Given the description of an element on the screen output the (x, y) to click on. 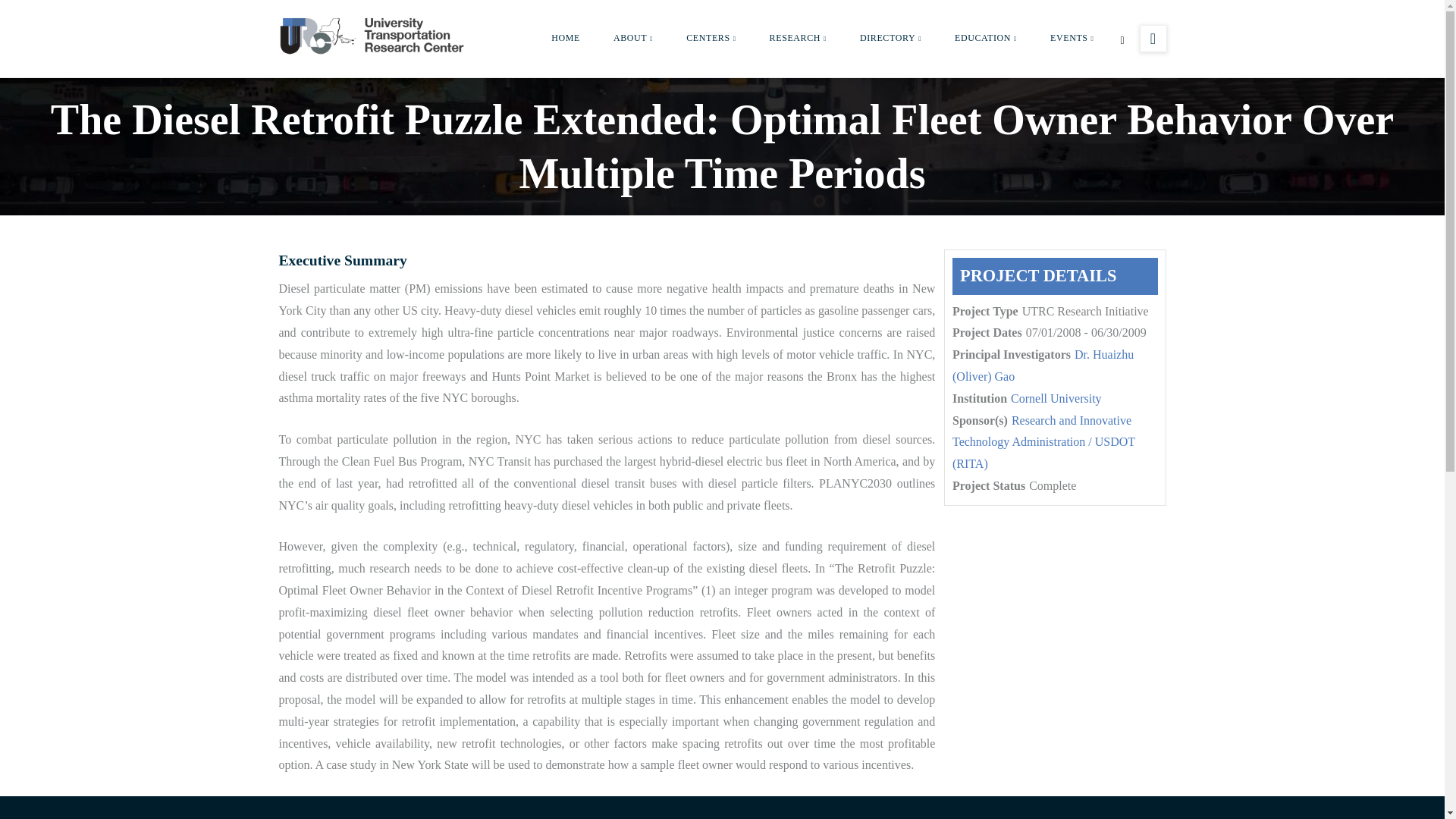
ABOUT (633, 38)
CENTERS (711, 38)
Home (373, 35)
EDUCATION (985, 38)
DIRECTORY (890, 38)
RESEARCH (797, 38)
